Given the description of an element on the screen output the (x, y) to click on. 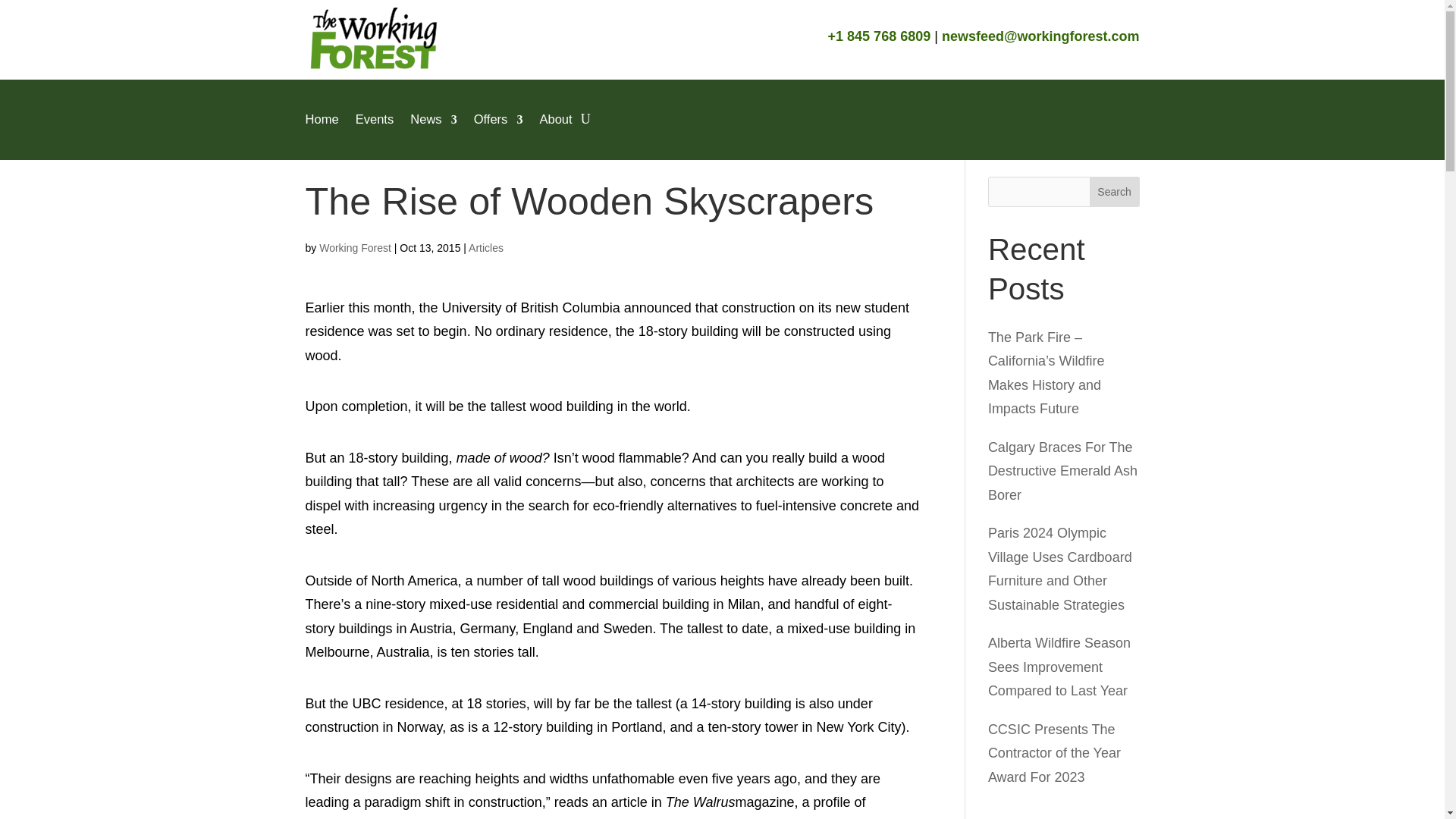
Articles (485, 247)
CCSIC Presents The Contractor of the Year Award For 2023 (1054, 752)
Working Forest (354, 247)
Posts by Working Forest (354, 247)
Calgary Braces For The Destructive Emerald Ash Borer (1062, 470)
Search (1114, 191)
